Given the description of an element on the screen output the (x, y) to click on. 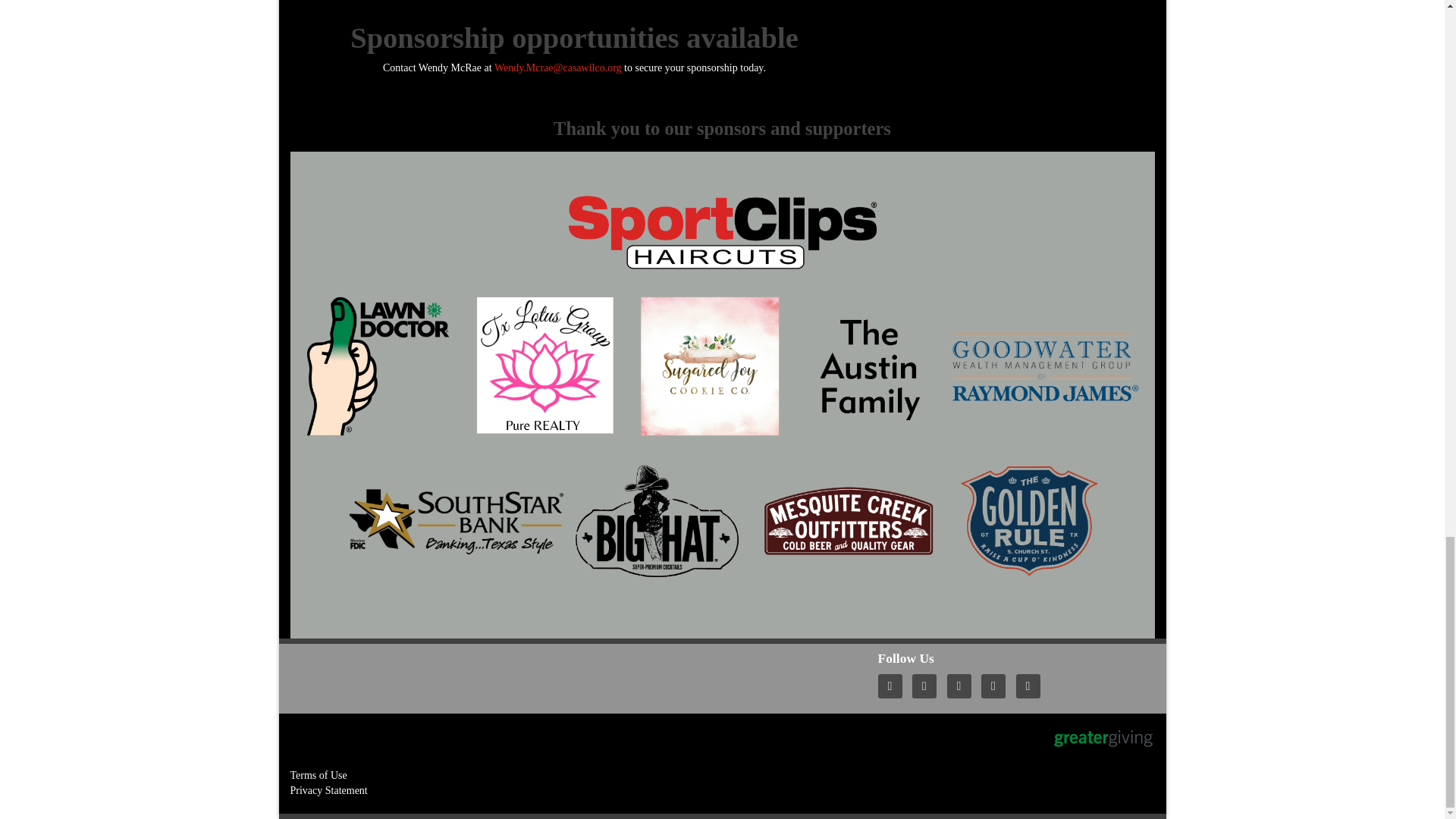
Home (893, 686)
Twitter (927, 686)
LinkedIn (997, 686)
Instagram (1032, 686)
Terms of Use (317, 775)
Privacy Statement (327, 790)
Facebook (962, 686)
